Given the description of an element on the screen output the (x, y) to click on. 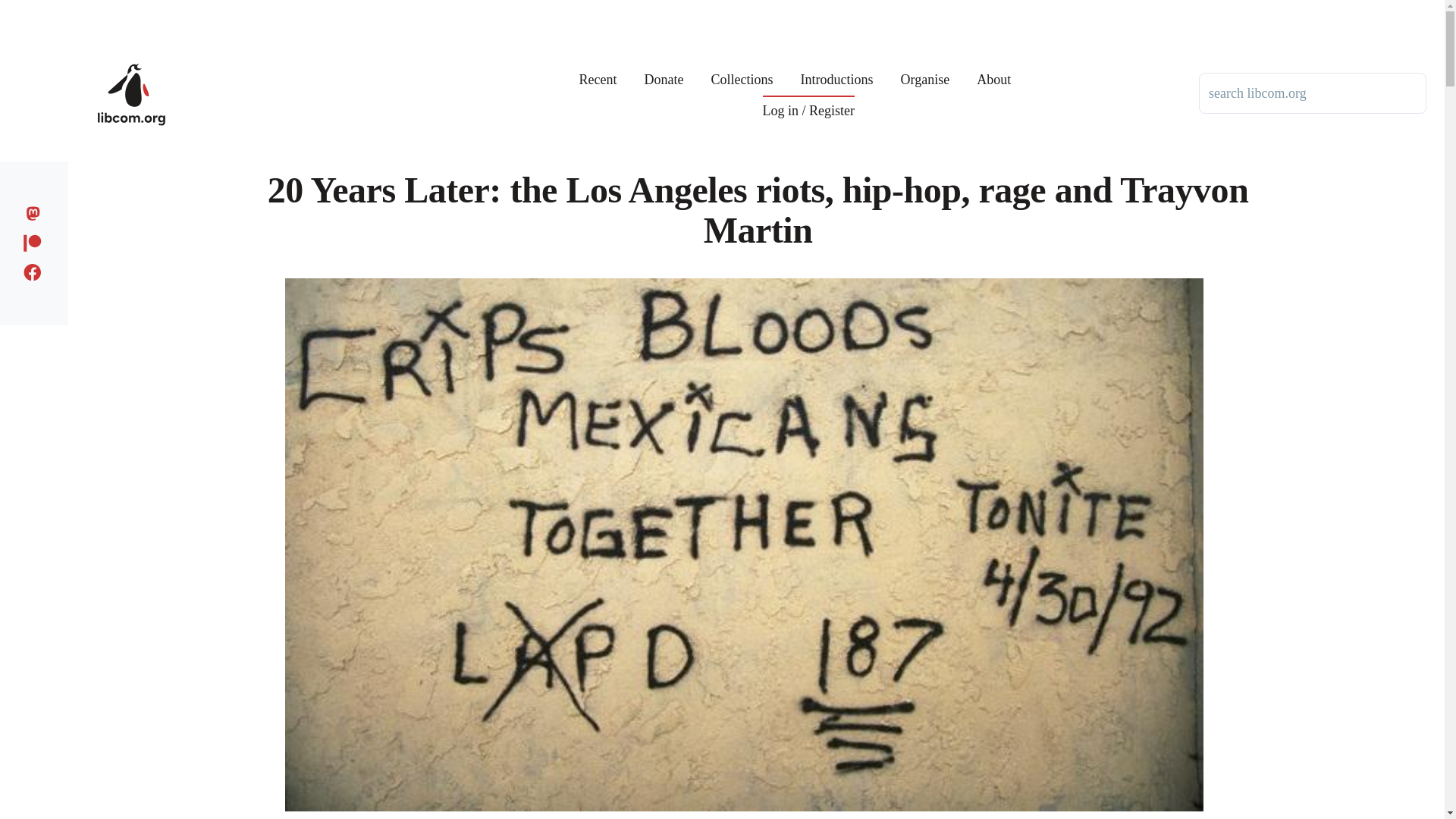
Introductions (836, 68)
About (993, 68)
Like us on facebook (36, 269)
Organise (925, 68)
Follow us on Mastodon (36, 210)
Recent (598, 68)
Donate (664, 68)
Support us on patreon (36, 239)
Skip to main content (595, 6)
Collections (742, 68)
